Given the description of an element on the screen output the (x, y) to click on. 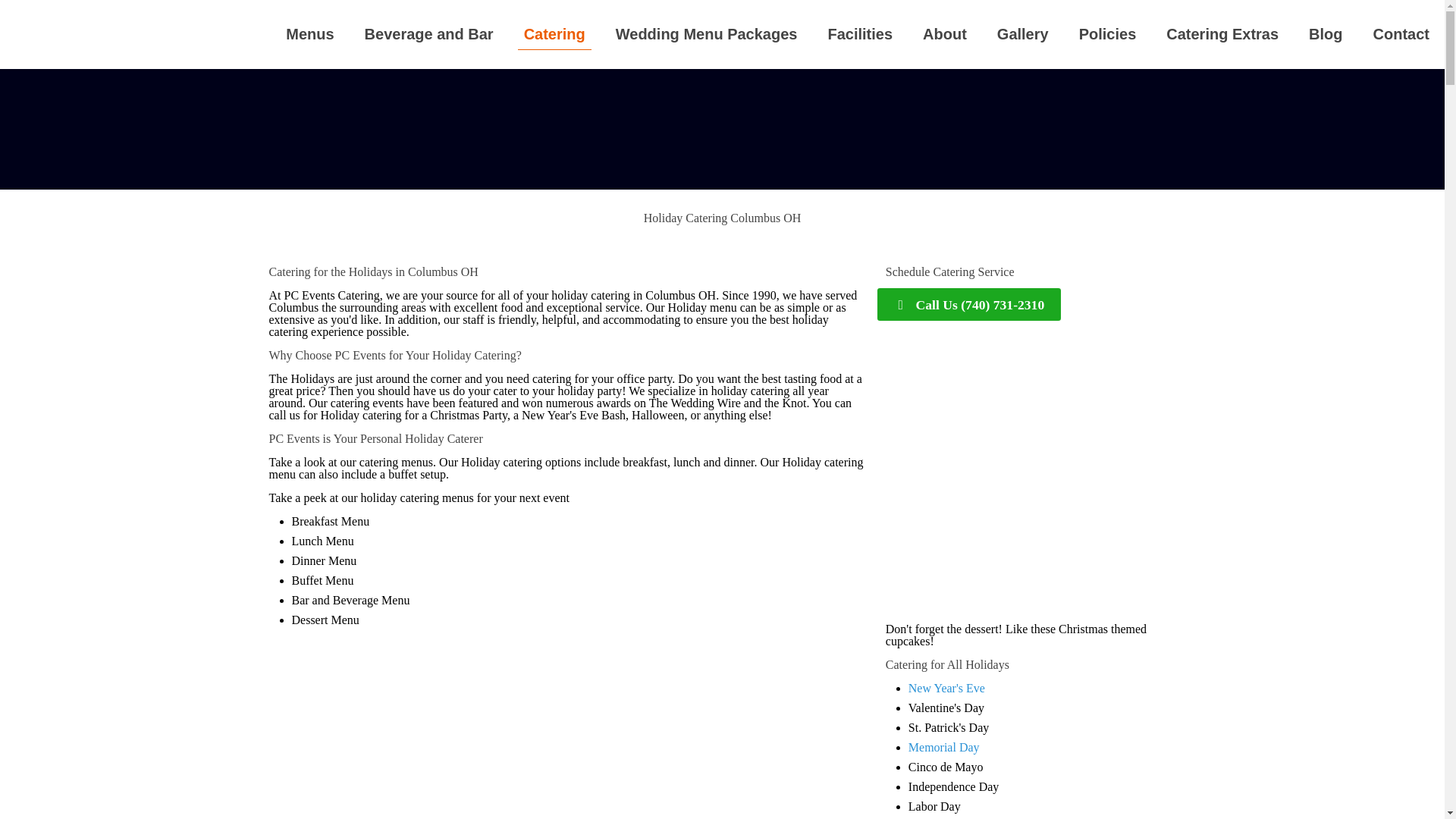
Catering Extras (1222, 33)
Menus (309, 33)
Memorial Day (943, 747)
Wedding Menu Packages (705, 33)
New Year's Eve (946, 687)
Gallery (1022, 33)
About (944, 33)
Catering (553, 33)
Beverage and Bar (428, 33)
Policies (1107, 33)
